Given the description of an element on the screen output the (x, y) to click on. 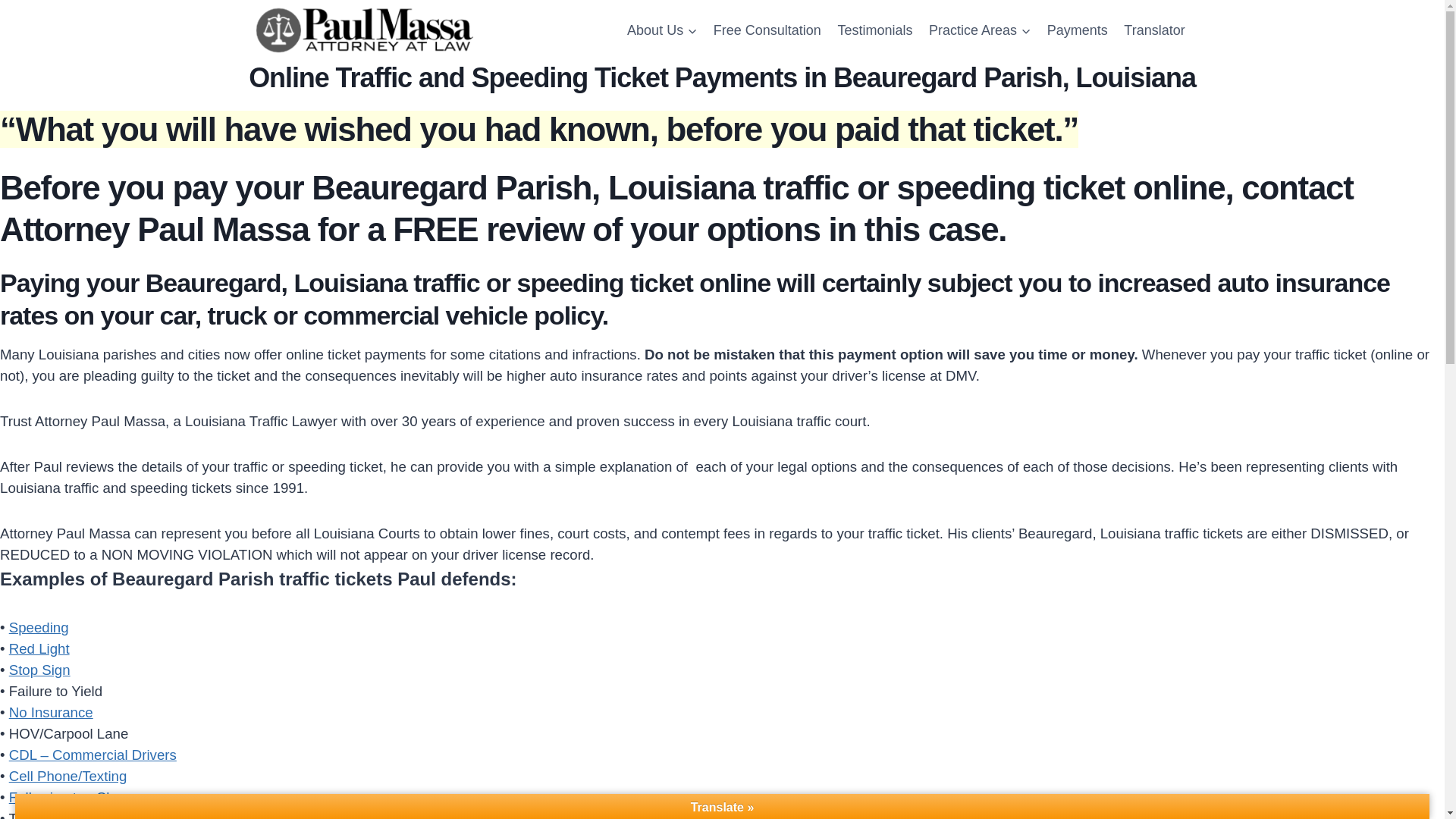
Following too Close (70, 797)
Stop Sign (38, 669)
FREE review of your options in this case. (699, 229)
Free Consultation (766, 30)
Red Light (38, 648)
Payments (1077, 30)
Testimonials (875, 30)
Translator (1154, 30)
About Us (661, 30)
Practice Areas (979, 30)
Speeding (38, 627)
No Insurance (50, 712)
